Given the description of an element on the screen output the (x, y) to click on. 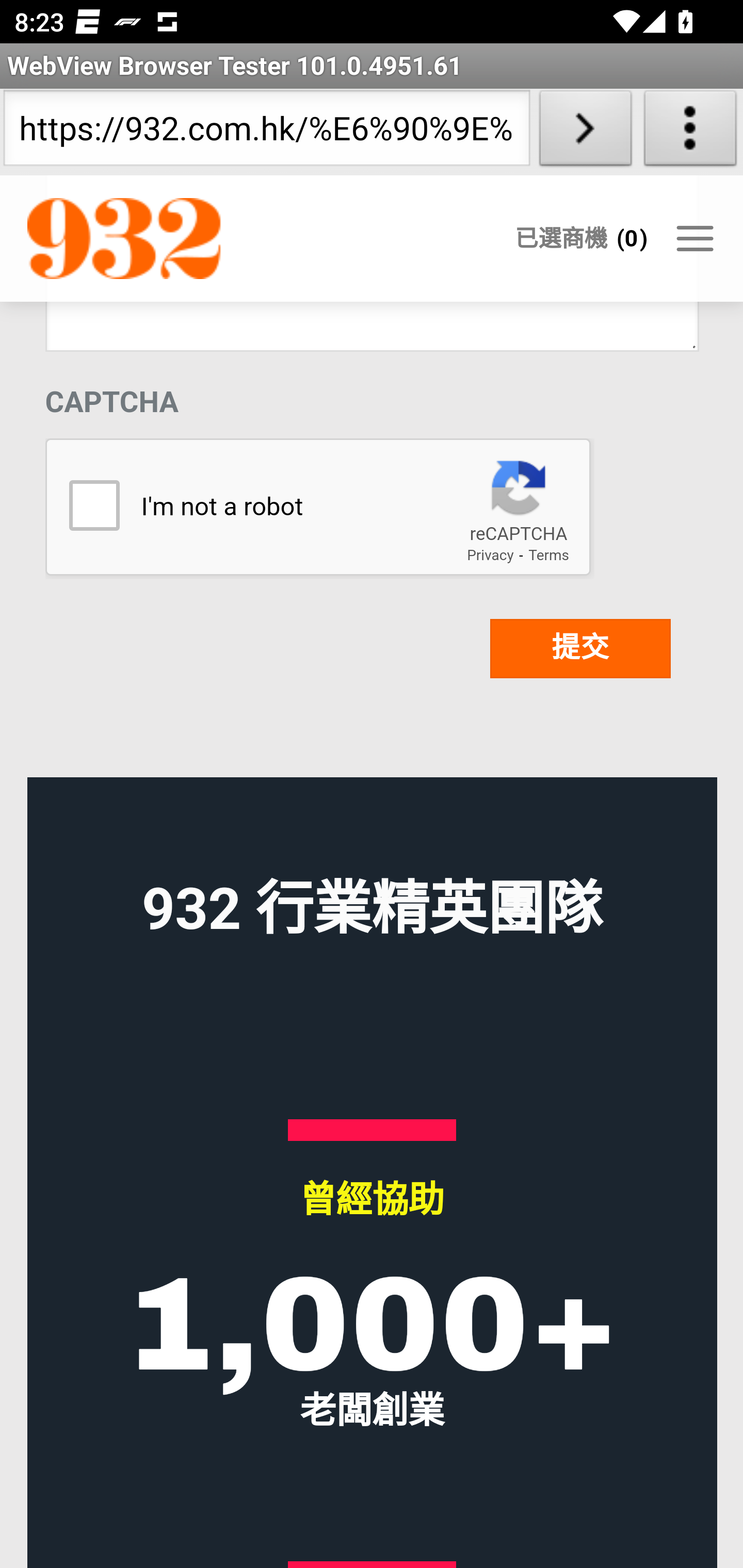
Load URL (585, 132)
About WebView (690, 132)
I'm not a robot (93, 506)
Privacy (489, 554)
Terms (547, 554)
提交 (579, 648)
